Given the description of an element on the screen output the (x, y) to click on. 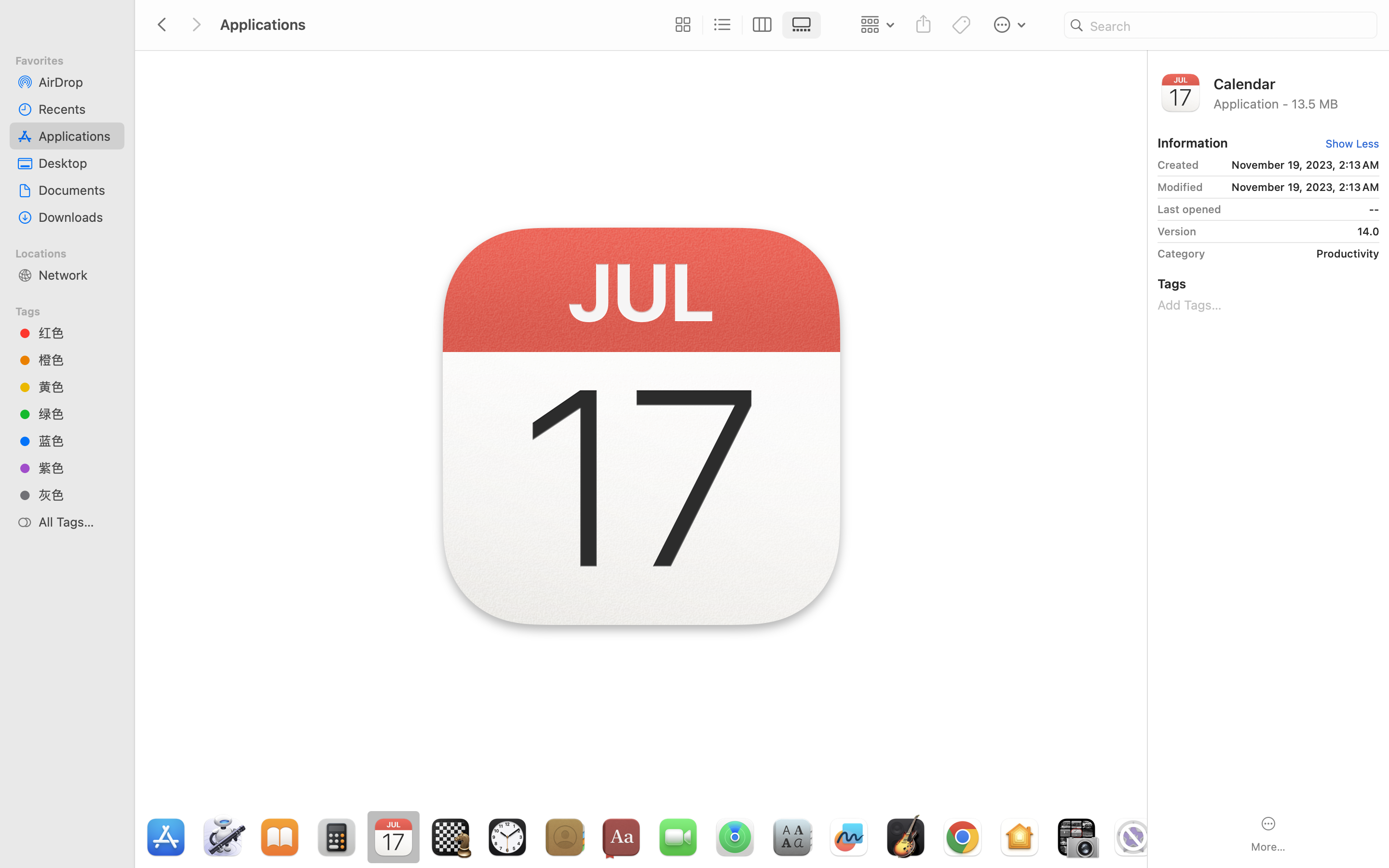
Desktop Element type: AXStaticText (77, 162)
橙色 Element type: AXStaticText (77, 359)
Tags Element type: AXStaticText (72, 309)
November 19, 2023, 2:13 AM Element type: AXStaticText (1292, 164)
Network Element type: AXStaticText (77, 274)
